Given the description of an element on the screen output the (x, y) to click on. 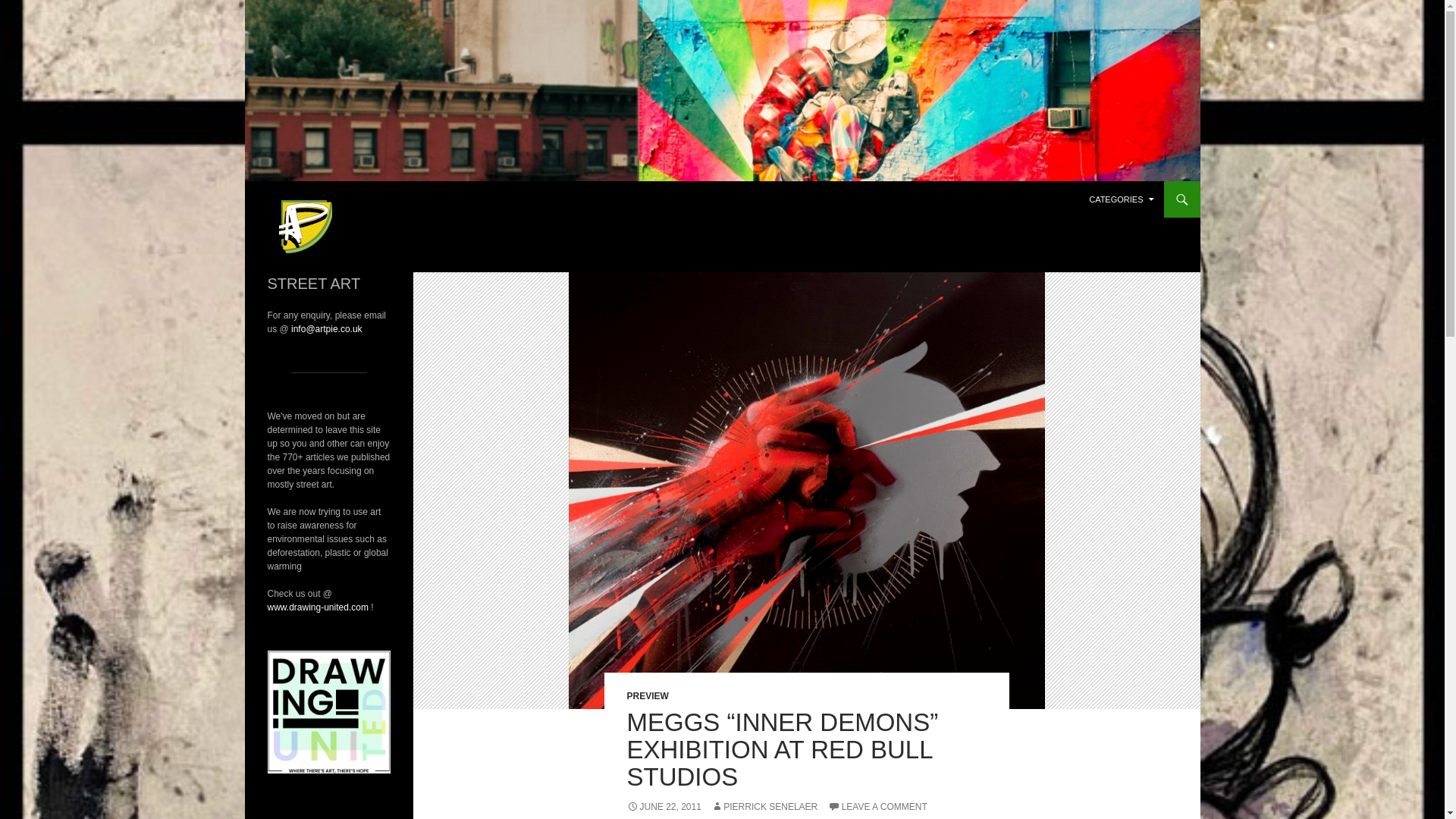
www.drawing-united.com (317, 606)
PREVIEW (647, 696)
CATEGORIES (1120, 198)
PIERRICK SENELAER (763, 806)
LEAVE A COMMENT (877, 806)
JUNE 22, 2011 (663, 806)
